Given the description of an element on the screen output the (x, y) to click on. 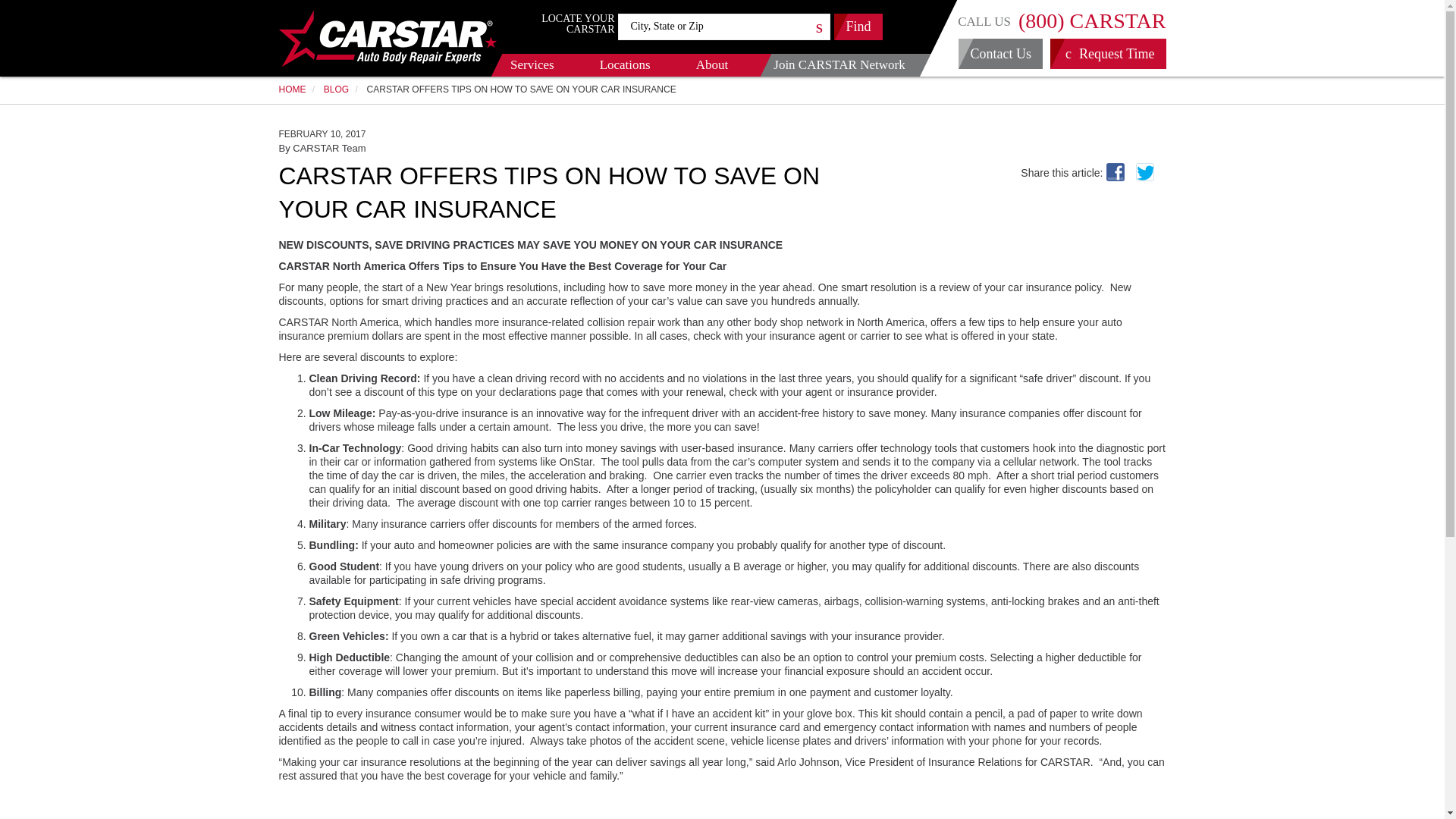
Join CARSTAR Network (838, 65)
Search CARSTAR stores by indicated location (858, 26)
Locations (623, 65)
Contact Us (1000, 53)
BLOG (336, 89)
HOME (292, 89)
Services (531, 65)
Carstar Services (531, 65)
Request Time (1107, 53)
About (711, 65)
